Given the description of an element on the screen output the (x, y) to click on. 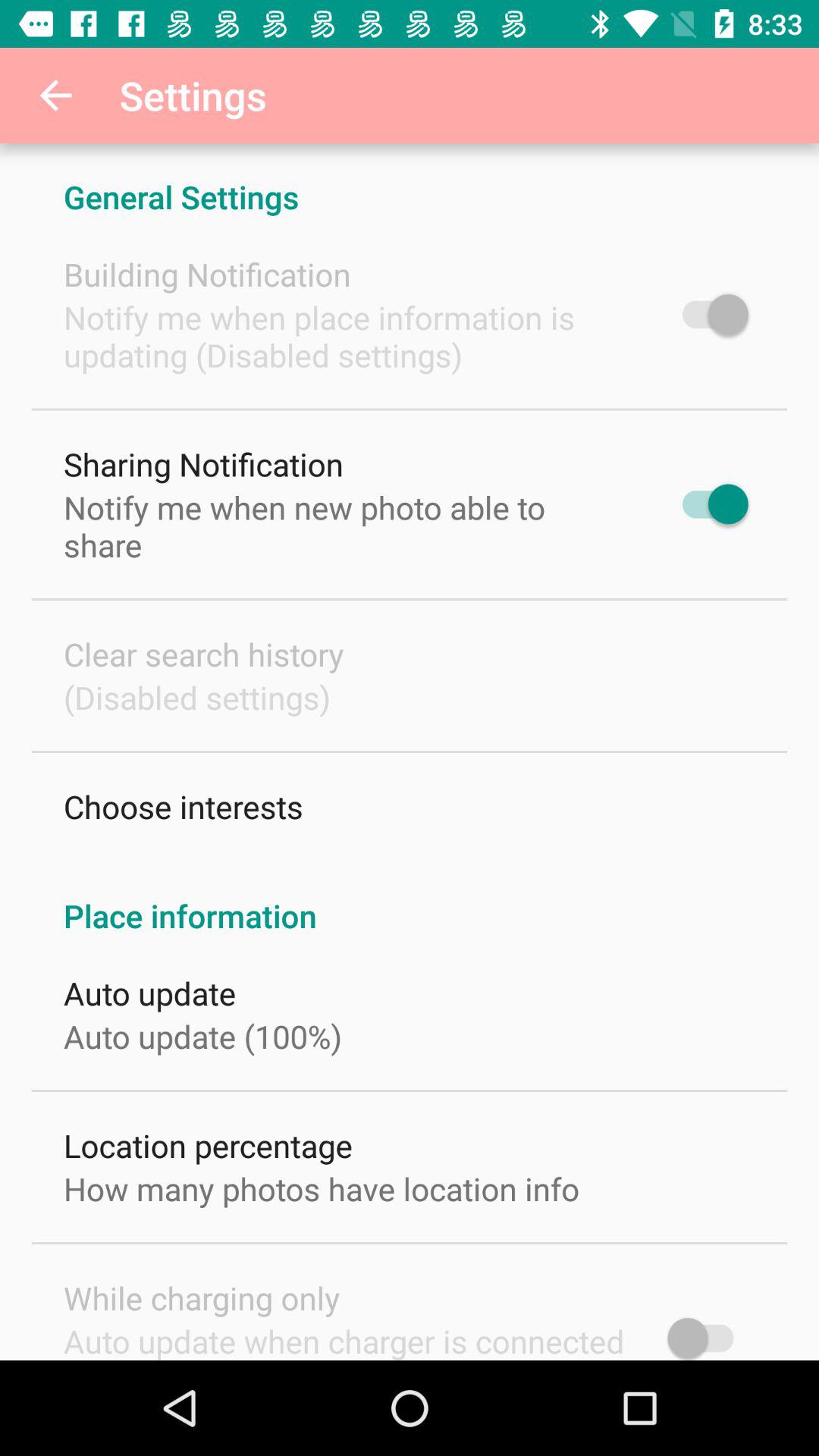
click the icon next to the settings icon (55, 95)
